Given the description of an element on the screen output the (x, y) to click on. 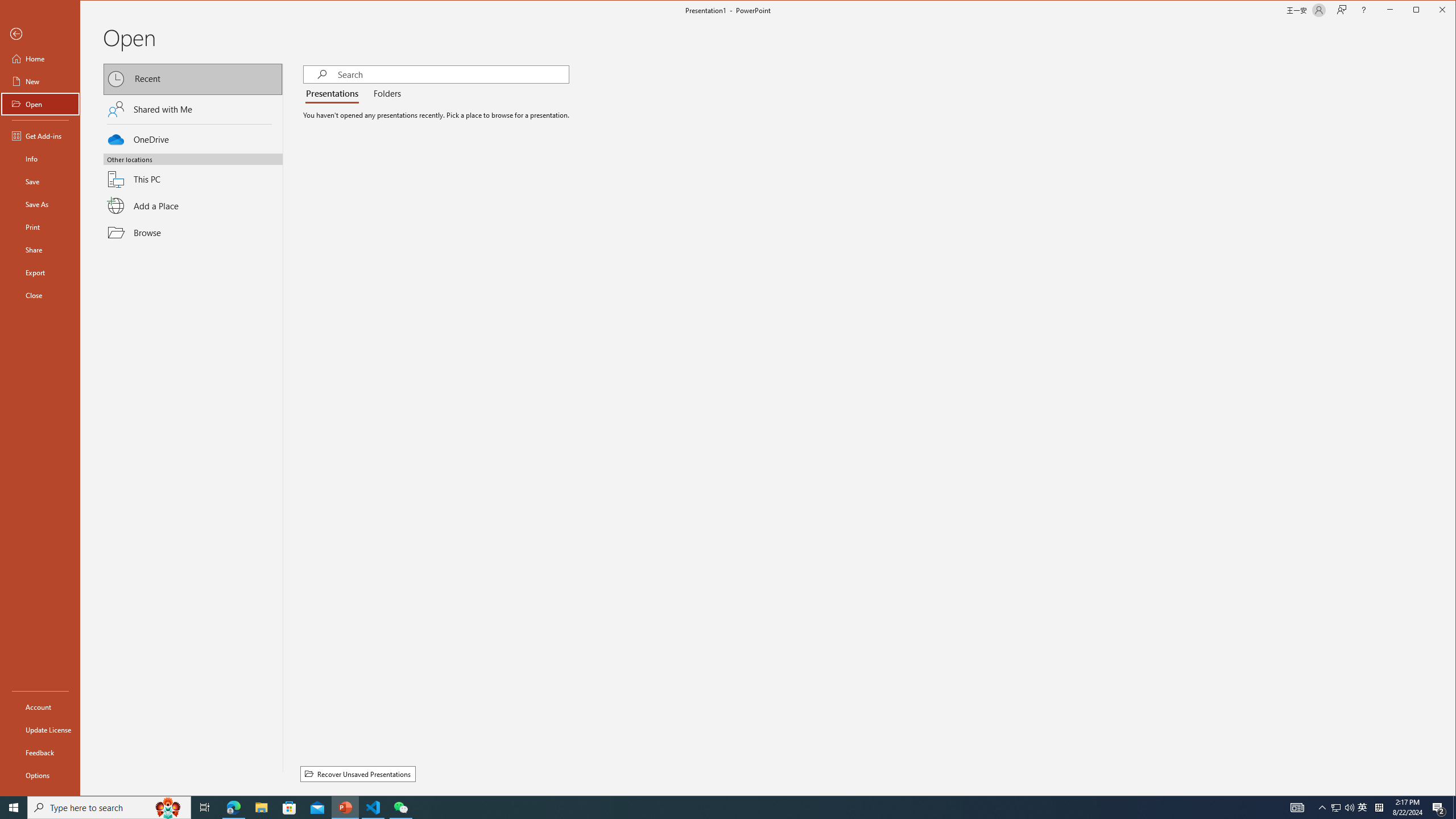
Info (40, 158)
Shared with Me (193, 109)
Recent (193, 79)
